Given the description of an element on the screen output the (x, y) to click on. 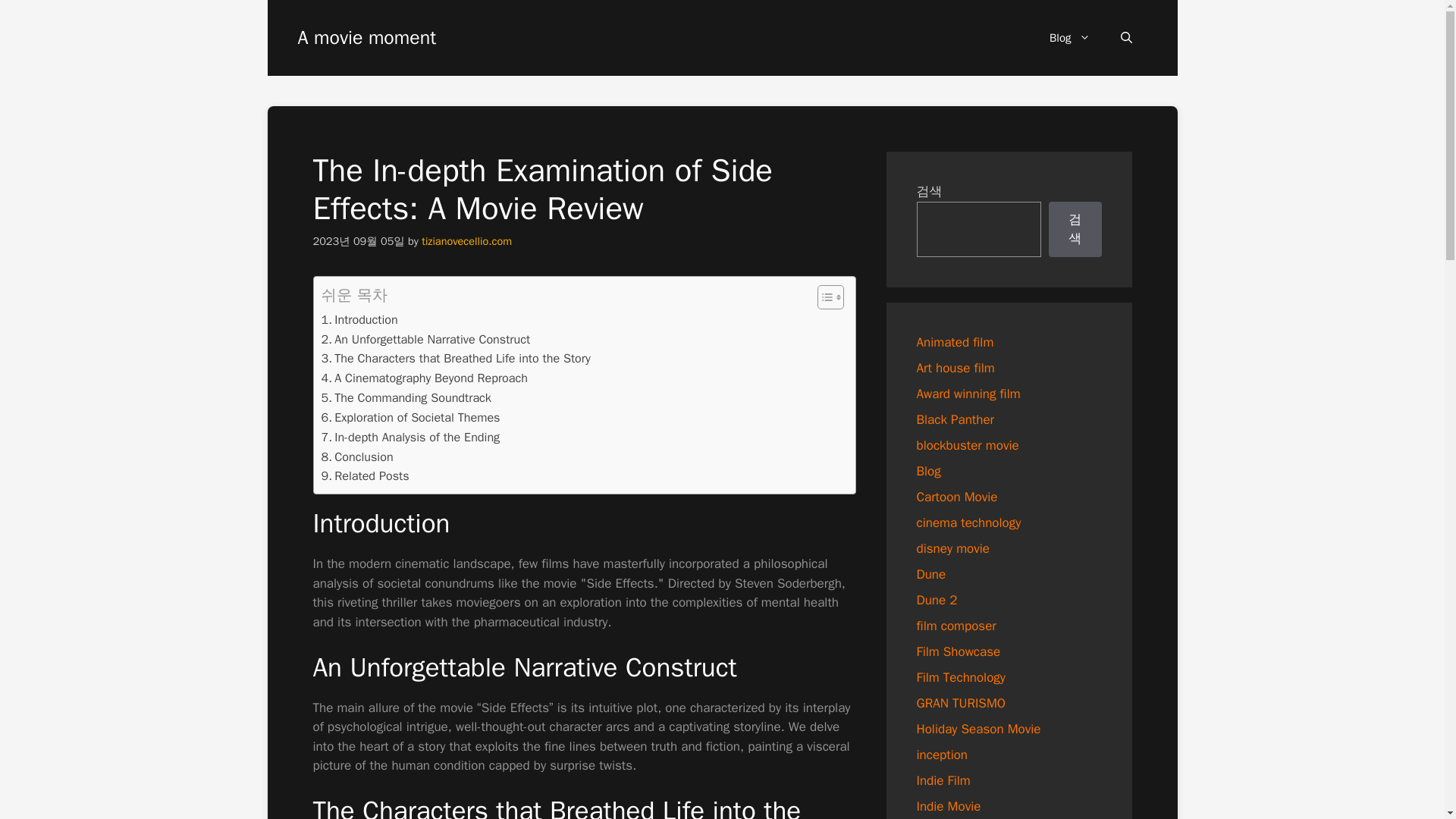
Related Posts (365, 476)
View all posts by tizianovecellio.com (467, 241)
Cartoon Movie (956, 496)
Exploration of Societal Themes (410, 417)
Animated film (953, 341)
The Commanding Soundtrack (406, 397)
An Unforgettable Narrative Construct (426, 339)
Blog (1069, 37)
In-depth Analysis of the Ending (410, 437)
Blog (927, 470)
The Commanding Soundtrack (406, 397)
Art house film (954, 367)
In-depth Analysis of the Ending (410, 437)
Introduction (359, 320)
Conclusion (357, 456)
